Given the description of an element on the screen output the (x, y) to click on. 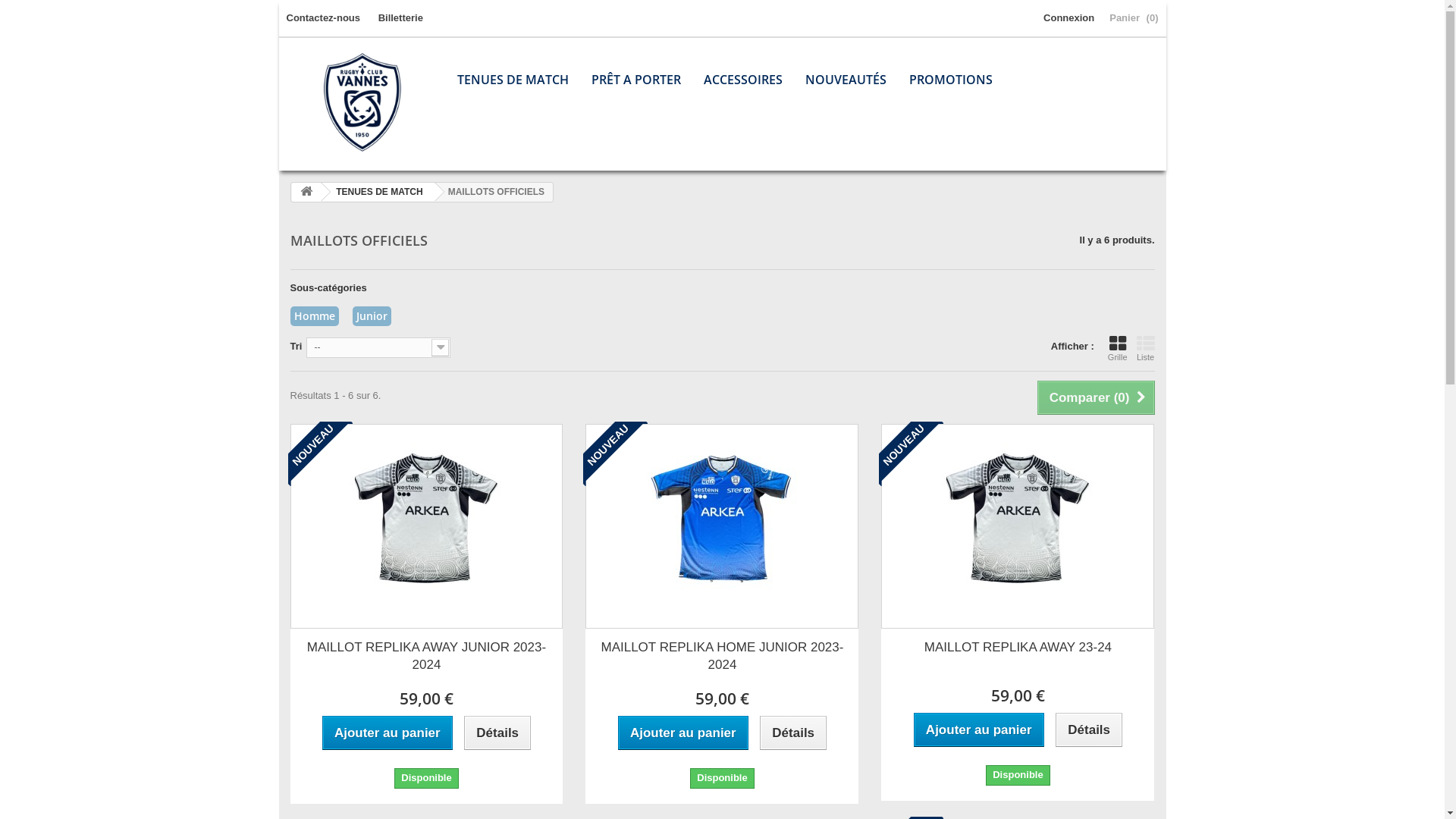
Liste Element type: text (1144, 347)
Panier (0) Element type: text (1133, 17)
MAILLOT REPLIKA AWAY JUNIOR 2023-2024 Element type: hover (425, 525)
PROMOTIONS Element type: text (950, 79)
Connexion Element type: text (1068, 17)
NOUVEAU Element type: text (615, 453)
TENUES DE MATCH Element type: text (376, 191)
Ajouter au panier Element type: text (387, 732)
Contactez-nous Element type: text (323, 17)
MAILLOT REPLIKA HOME JUNIOR 2023-2024 Element type: hover (721, 525)
Junior Element type: text (371, 315)
Comparer (0) Element type: text (1095, 397)
Grille Element type: text (1117, 347)
Billetterie Element type: text (400, 17)
MAILLOT REPLIKA AWAY 23-24 Element type: text (1017, 646)
NOUVEAU Element type: text (320, 453)
MAILLOT REPLIKA AWAY JUNIOR 2023-2024 Element type: text (426, 655)
TENUES DE MATCH Element type: text (512, 79)
Homme Element type: text (314, 315)
NOUVEAU Element type: text (910, 453)
MAILLOT REPLIKA HOME JUNIOR 2023-2024 Element type: text (721, 655)
MAILLOT REPLIKA AWAY 23-24 Element type: hover (1017, 525)
Ajouter au panier Element type: text (978, 729)
Ajouter au panier Element type: text (683, 732)
RC Vannes Element type: hover (362, 102)
ACCESSOIRES Element type: text (742, 79)
